Given the description of an element on the screen output the (x, y) to click on. 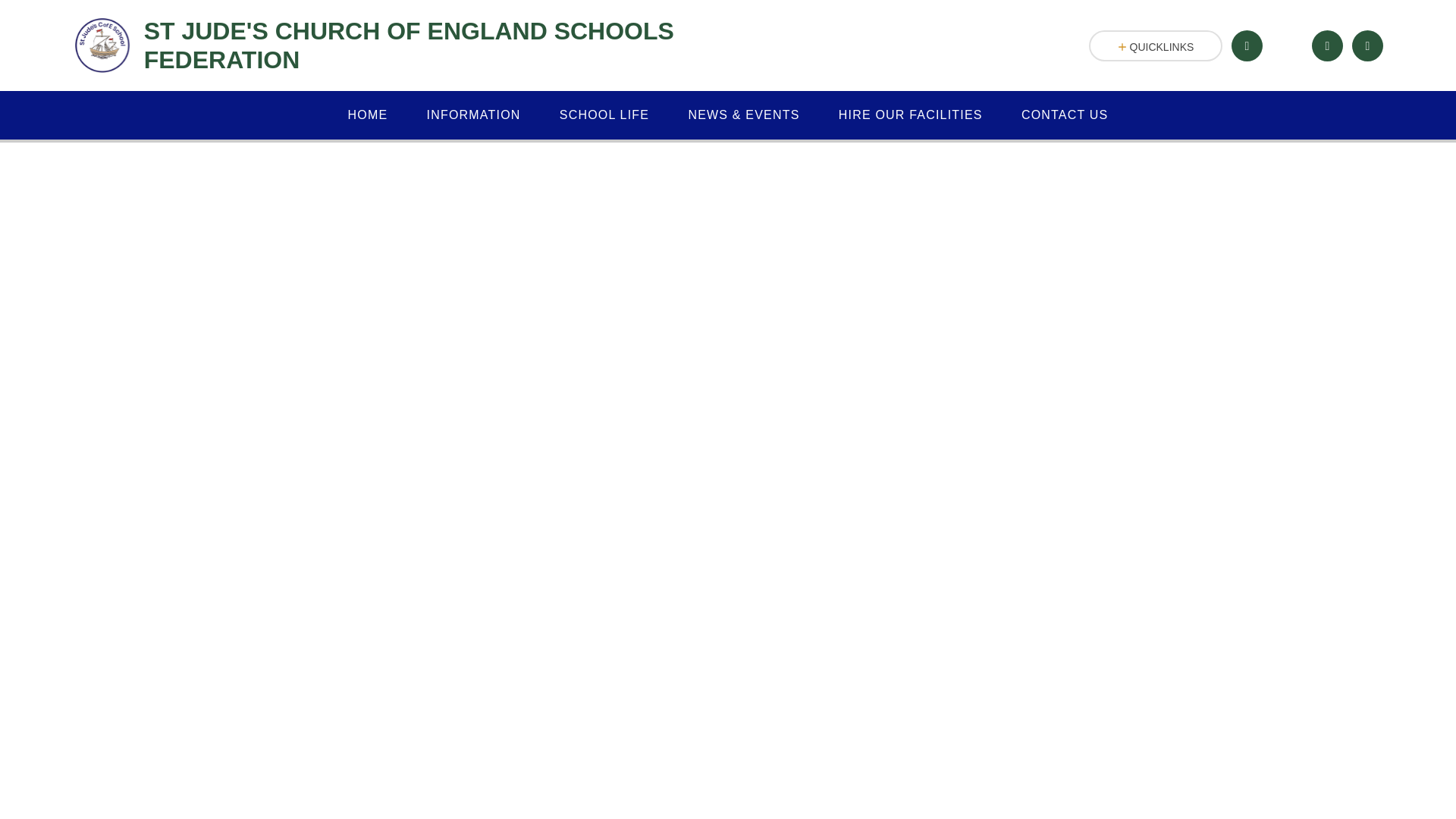
HOME (368, 114)
ST JUDE'S CHURCH OF ENGLAND SCHOOLS FEDERATION (411, 45)
INFORMATION (473, 114)
